Given the description of an element on the screen output the (x, y) to click on. 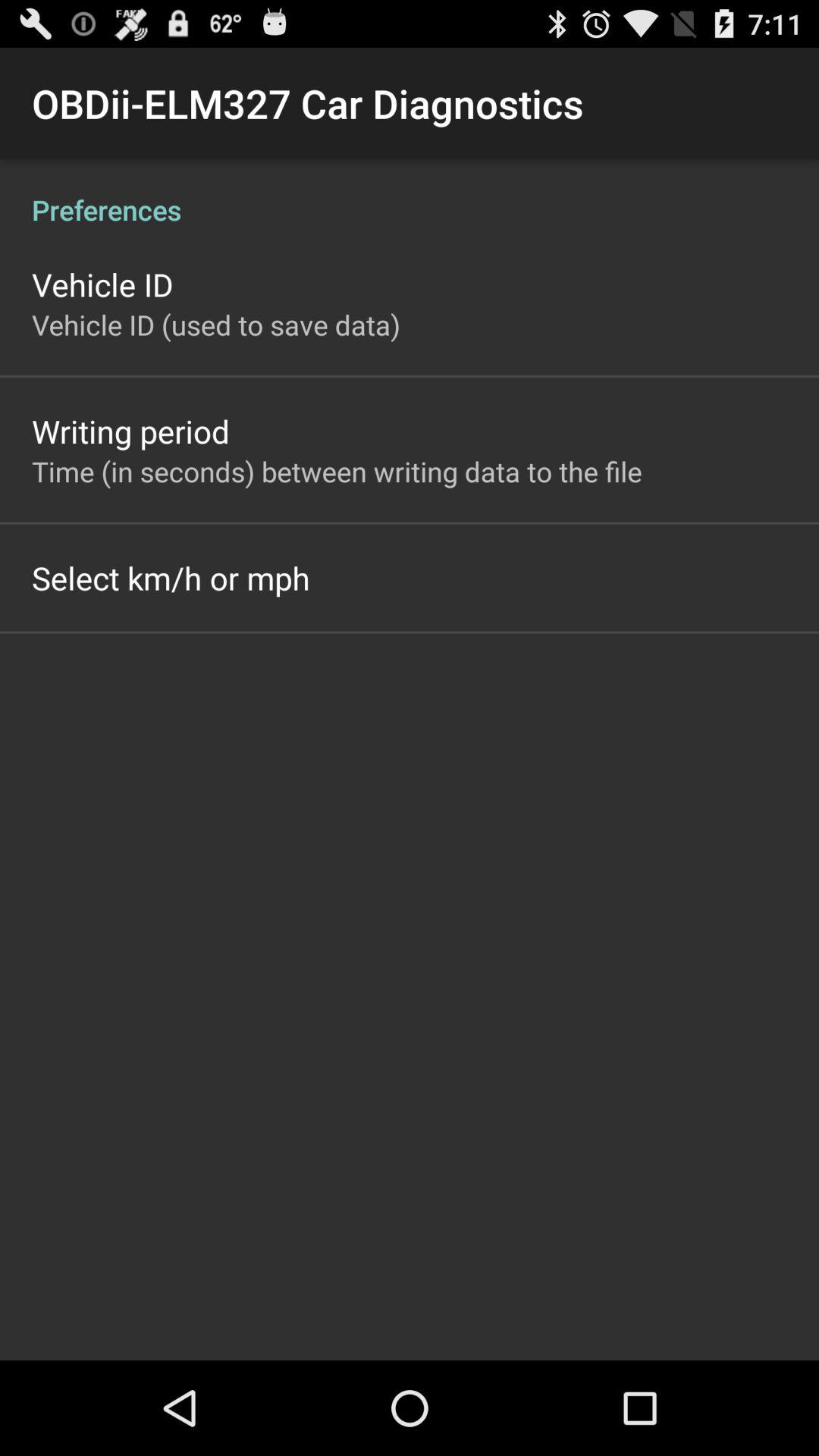
turn on the item above time in seconds icon (130, 430)
